Given the description of an element on the screen output the (x, y) to click on. 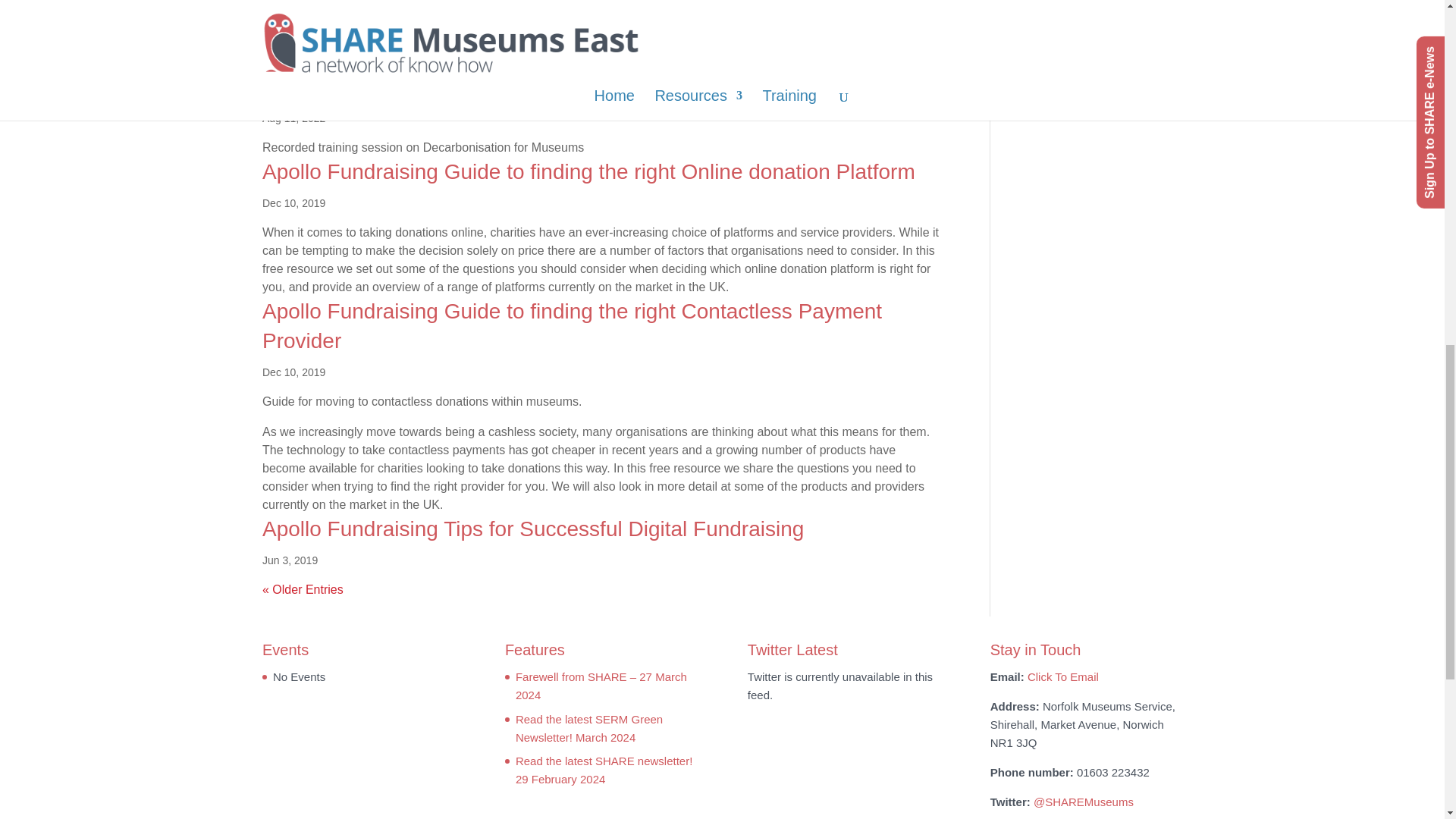
Click To Email (1063, 676)
Read the latest SERM Green Newsletter! March 2024 (588, 727)
Apollo Fundraising Tips for Successful Digital Fundraising (532, 528)
How to plan and deliver Carbon Reduction in your museum (540, 85)
Read the latest SHARE newsletter! 29 February 2024 (604, 769)
